Given the description of an element on the screen output the (x, y) to click on. 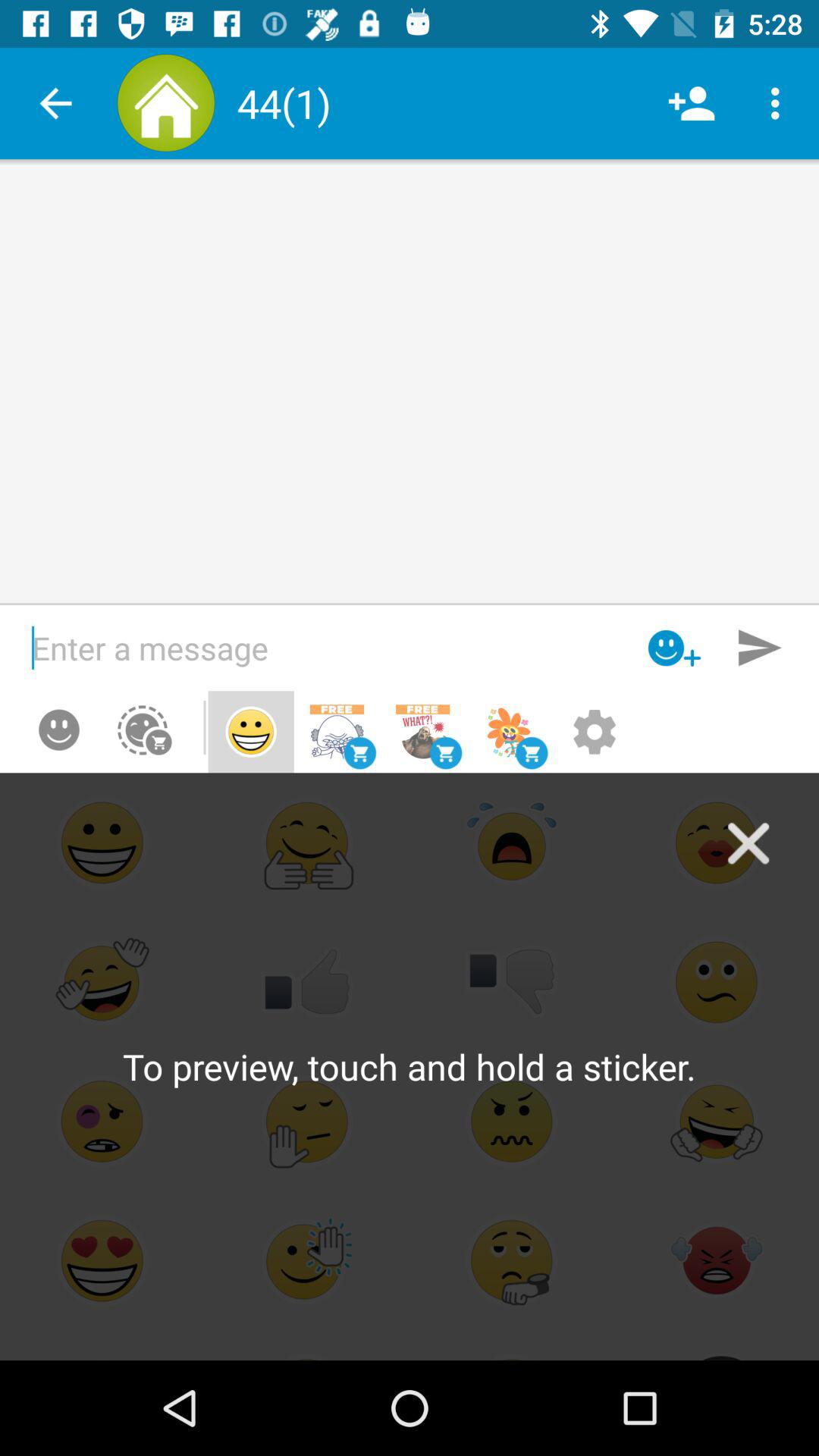
tap item next to the (1) icon (691, 103)
